Given the description of an element on the screen output the (x, y) to click on. 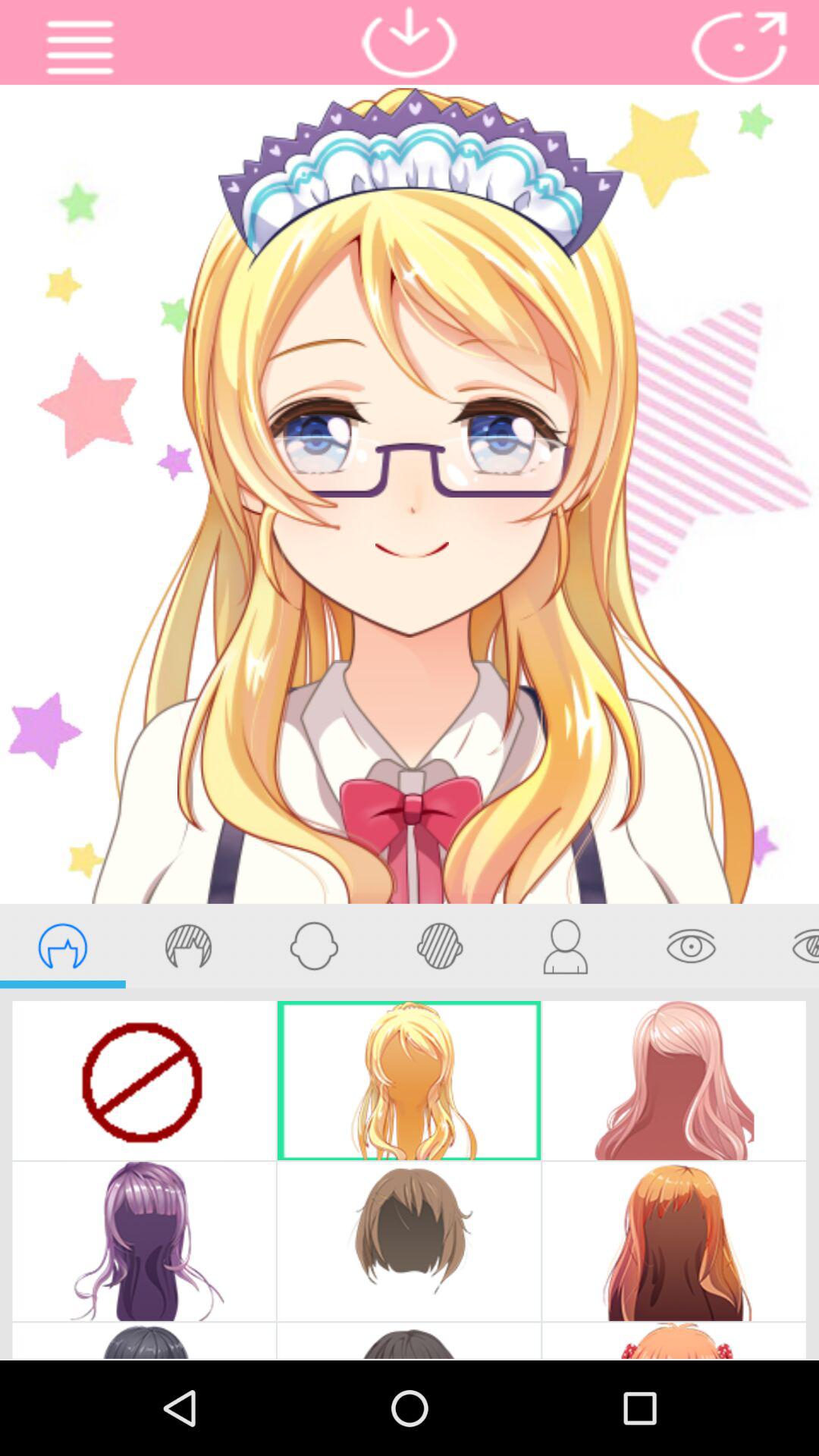
hair styles (62, 945)
